Given the description of an element on the screen output the (x, y) to click on. 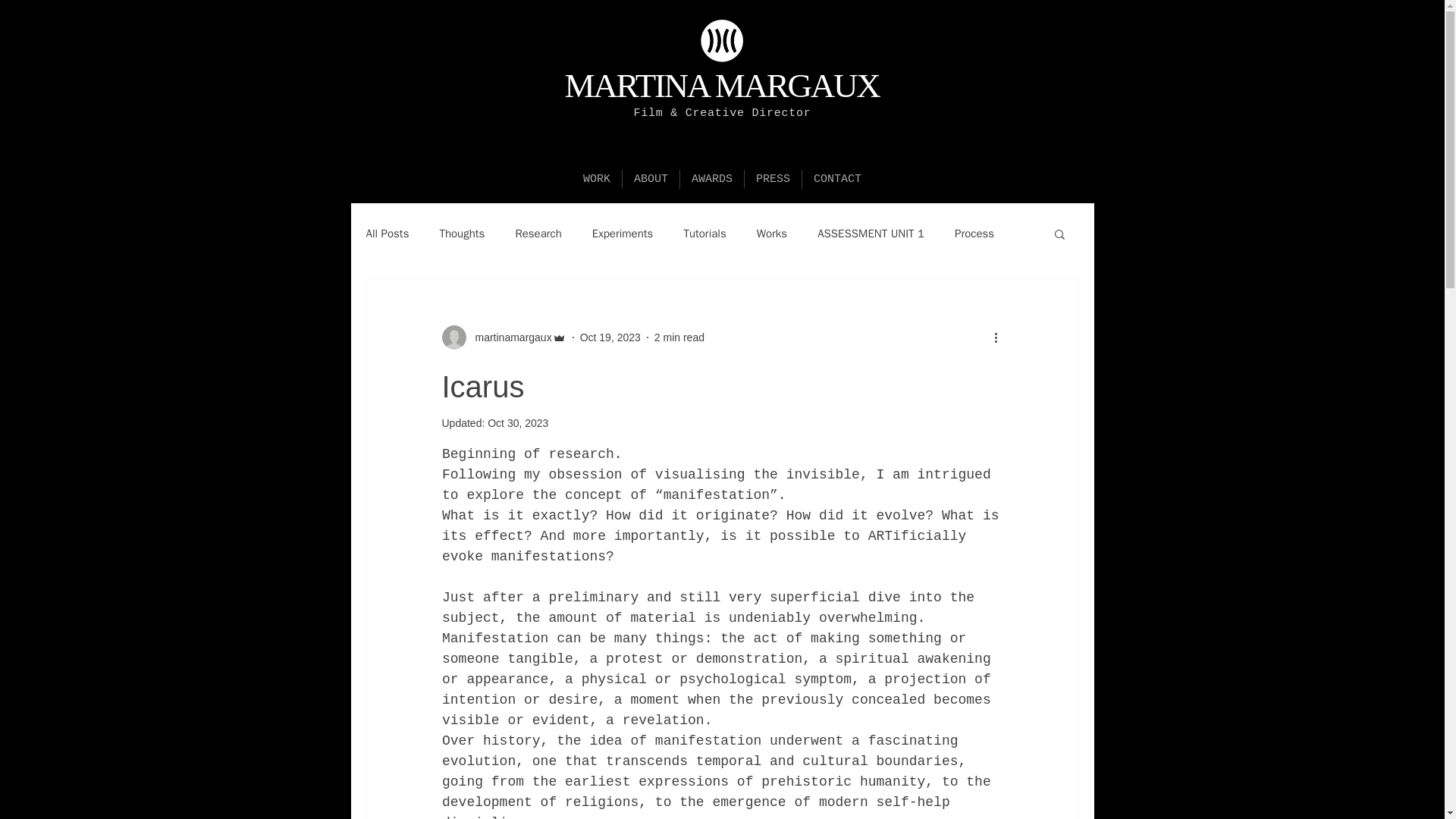
ABOUT (651, 179)
Research (537, 233)
WORK (596, 179)
AWARDS (711, 179)
Process (974, 233)
martinamargaux (508, 336)
MARTINA MARGAUX (721, 85)
Oct 19, 2023 (609, 336)
Oct 30, 2023 (517, 422)
Thoughts (461, 233)
All Posts (387, 233)
Experiments (622, 233)
ASSESSMENT UNIT 1 (870, 233)
CONTACT (837, 179)
Tutorials (703, 233)
